Given the description of an element on the screen output the (x, y) to click on. 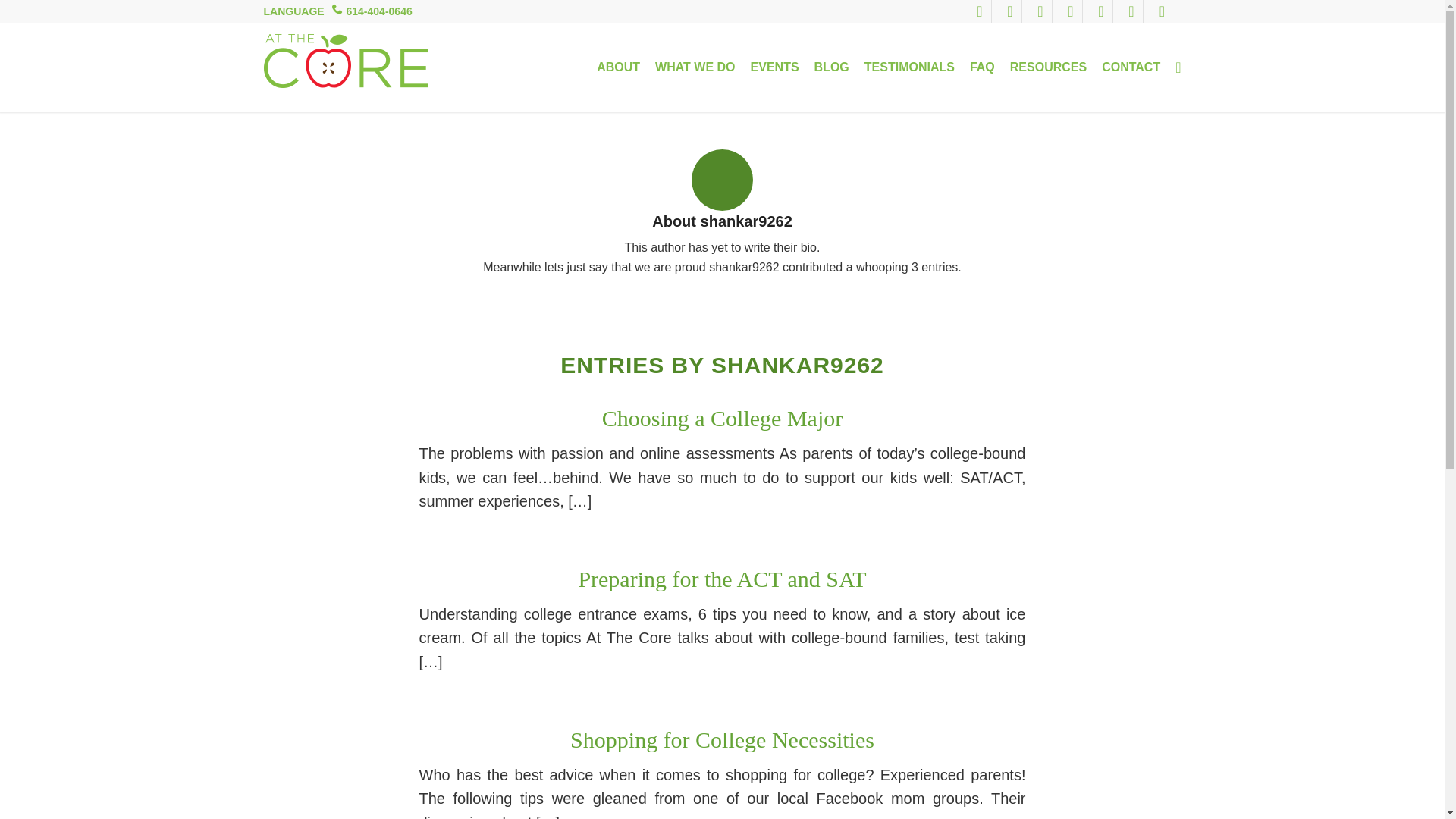
Youtube (1101, 11)
LANGUAGE (293, 11)
Facebook (980, 11)
Twitter (1010, 11)
English (293, 11)
Pinterest (1070, 11)
Mail (1162, 11)
Instagram (1131, 11)
Linkedin (1040, 11)
